Given the description of an element on the screen output the (x, y) to click on. 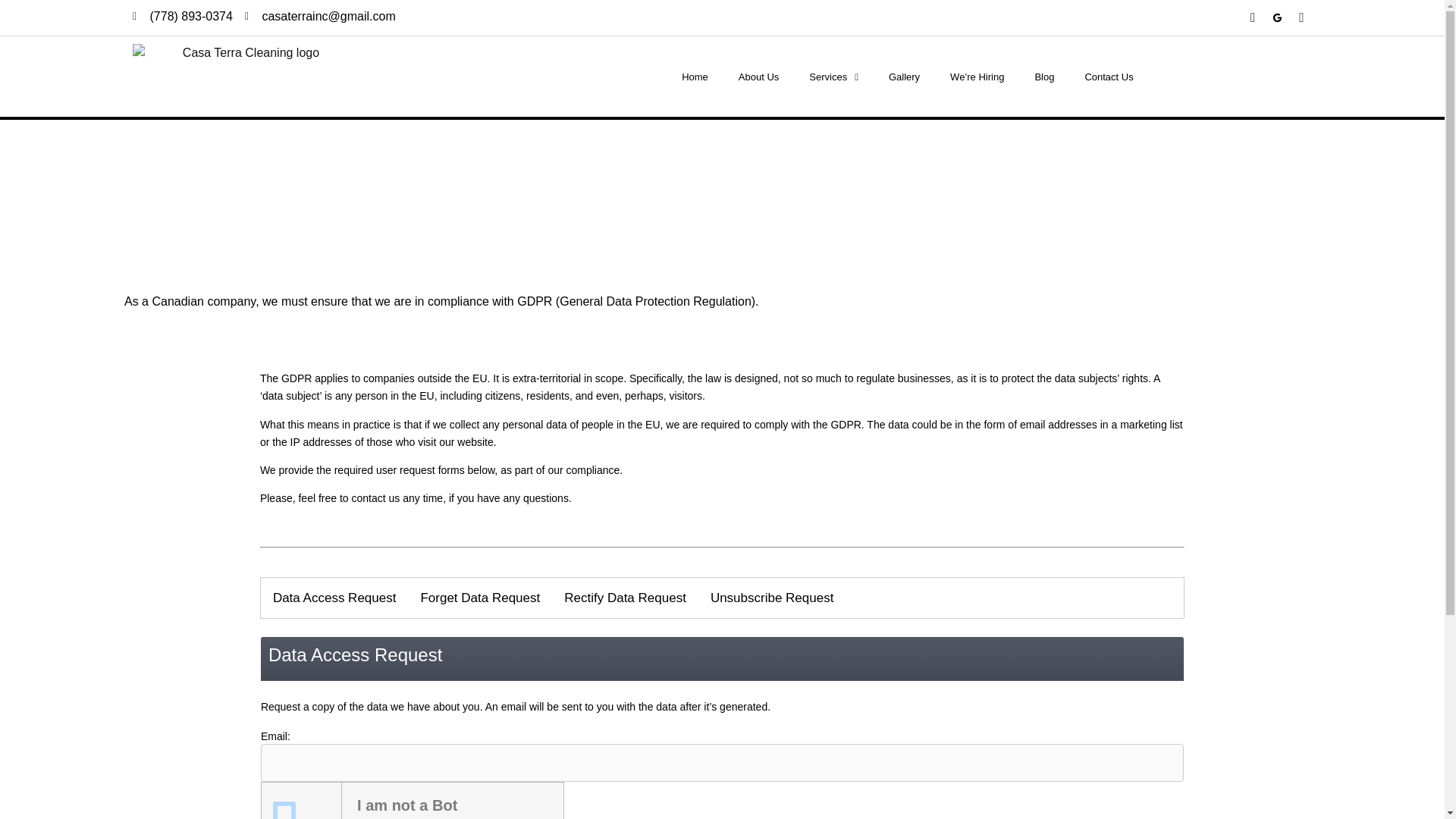
Forget Data Request (479, 598)
Contact Us (1108, 76)
Services (833, 76)
Blog (1043, 76)
Unsubscribe Request (771, 598)
About Us (758, 76)
Gallery (903, 76)
Data Access Request (334, 598)
Rectify Data Request (624, 598)
Home (694, 76)
